Given the description of an element on the screen output the (x, y) to click on. 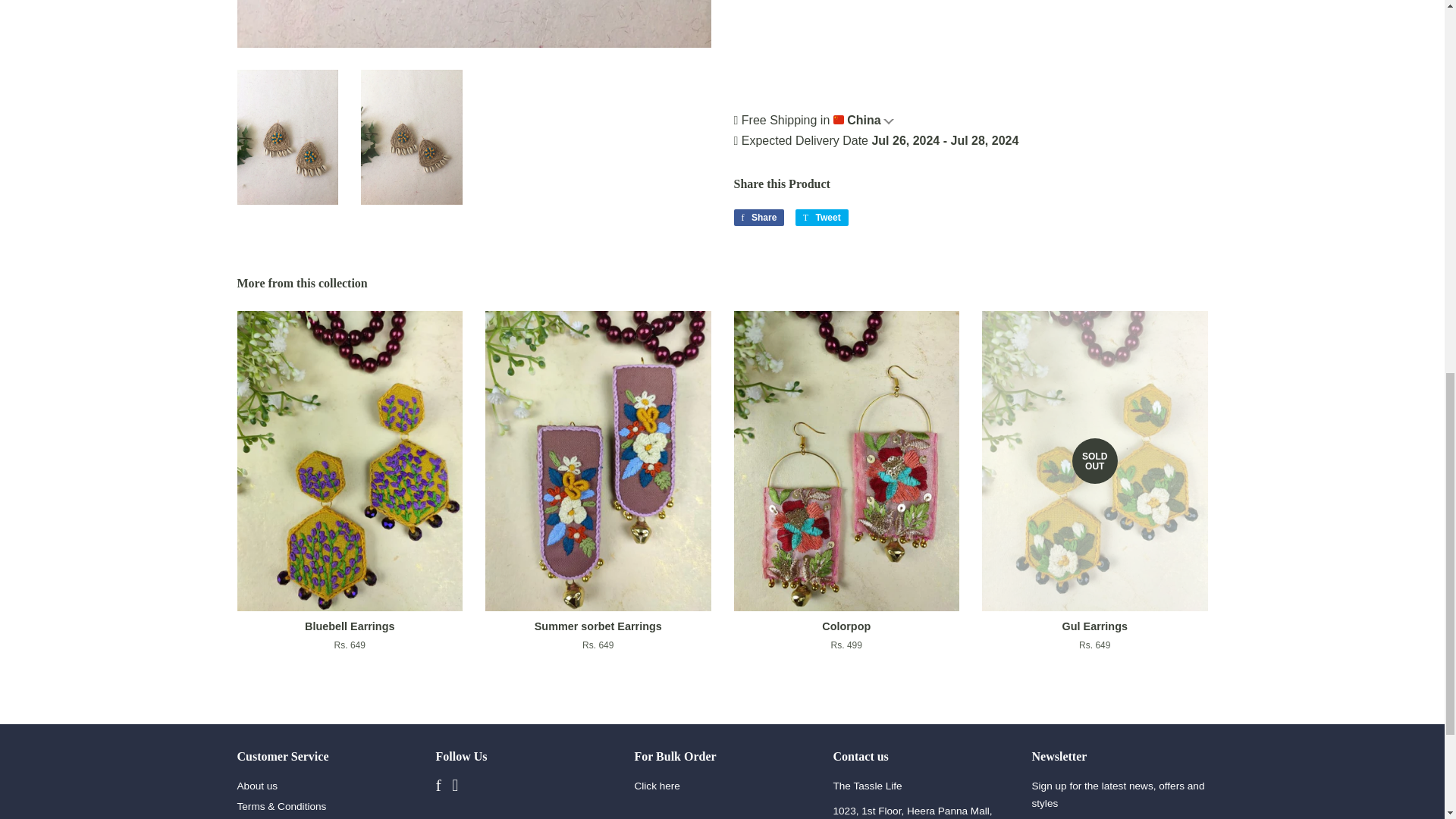
Share on Facebook (758, 217)
Tweet on Twitter (821, 217)
